Given the description of an element on the screen output the (x, y) to click on. 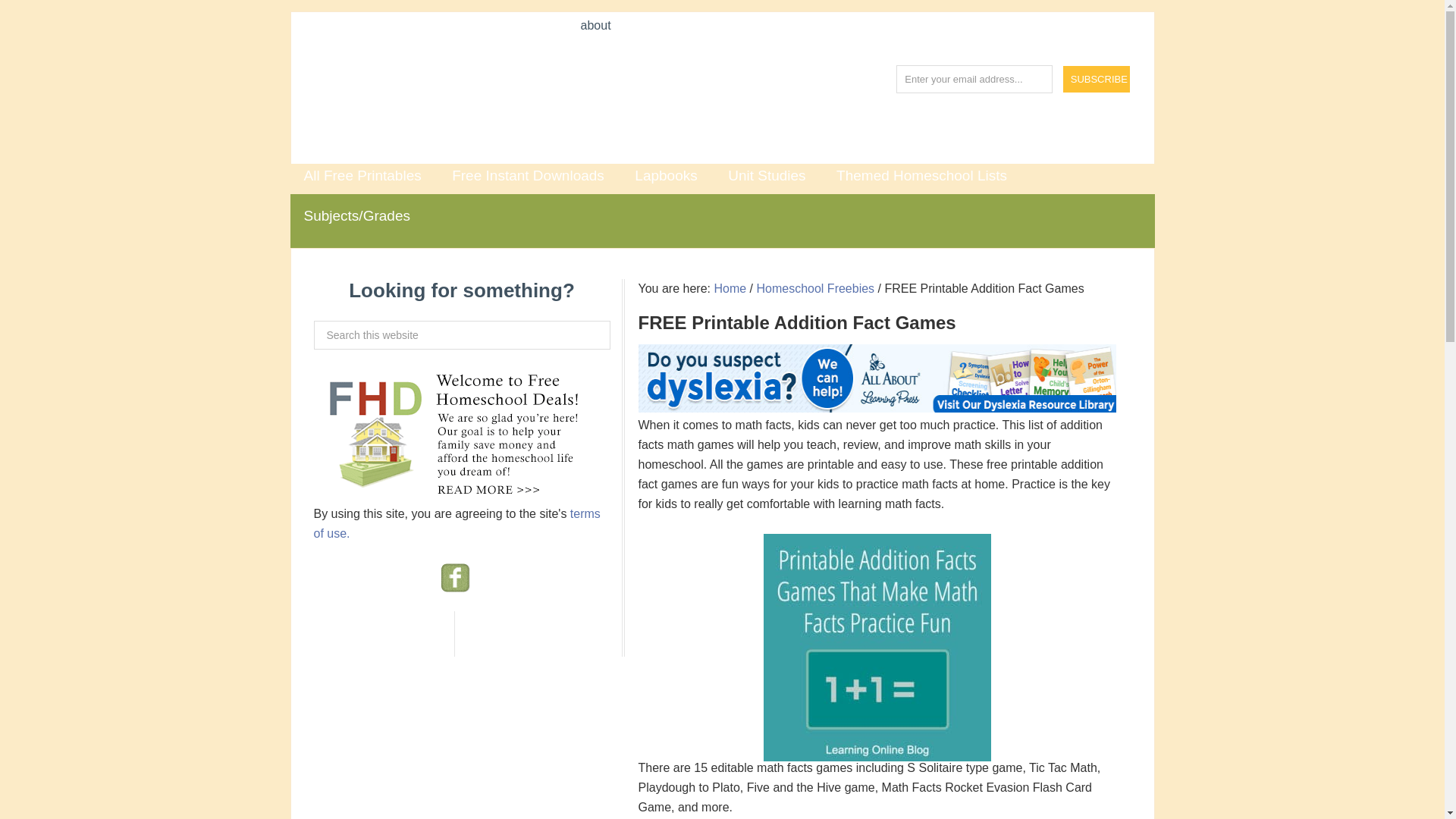
Follow me on Facebook (454, 585)
Lapbooks (665, 176)
Subscribe (1096, 79)
Free Instant Downloads (527, 176)
overwhelmed? start here (681, 41)
Subscribe (1096, 79)
Themed Homeschool Lists (921, 176)
All Free Printables (361, 176)
about (595, 25)
Unit Studies (766, 176)
Themed Homeschool Lists (921, 176)
